Given the description of an element on the screen output the (x, y) to click on. 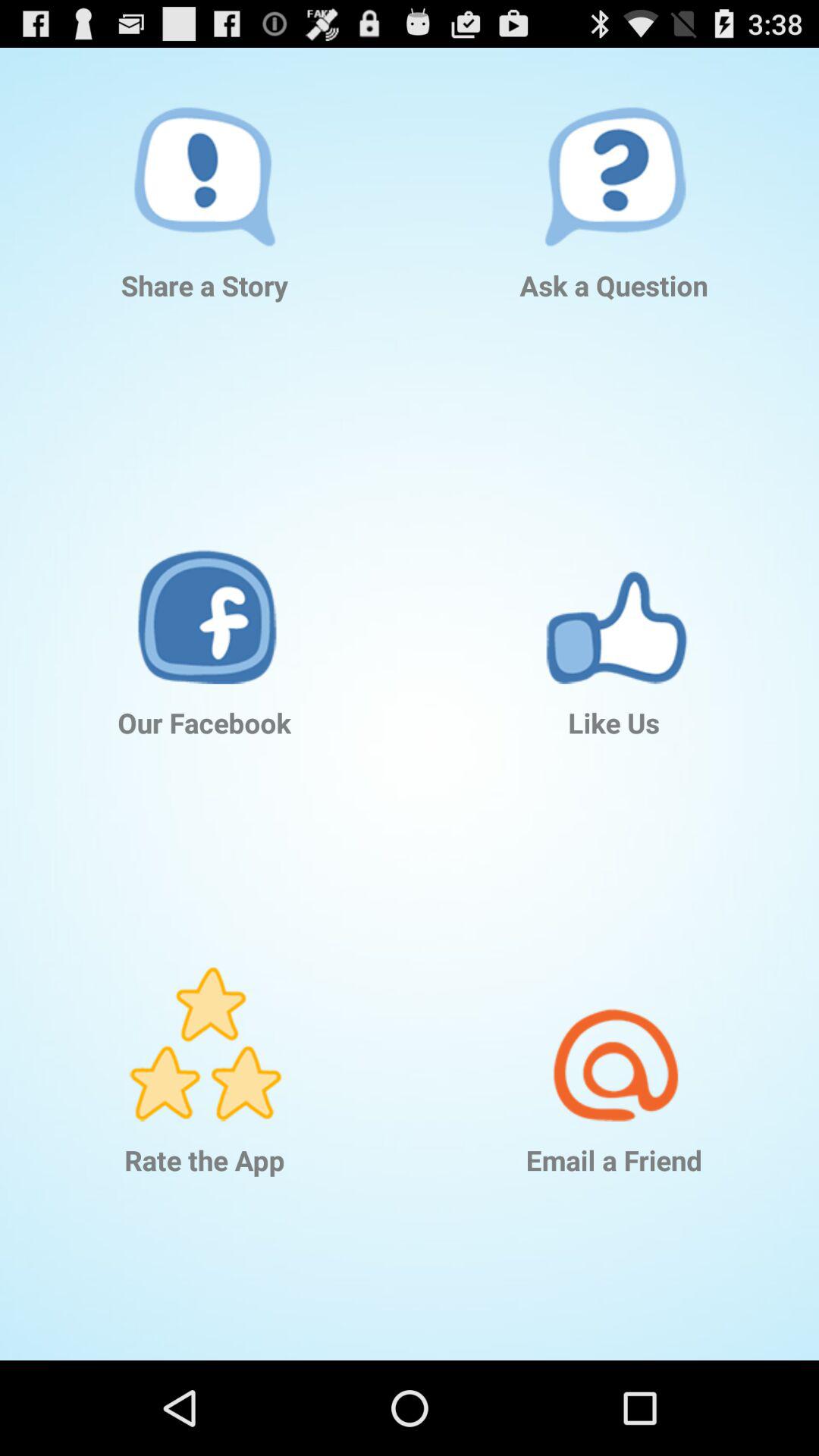
open icon above the ask a question item (613, 146)
